Given the description of an element on the screen output the (x, y) to click on. 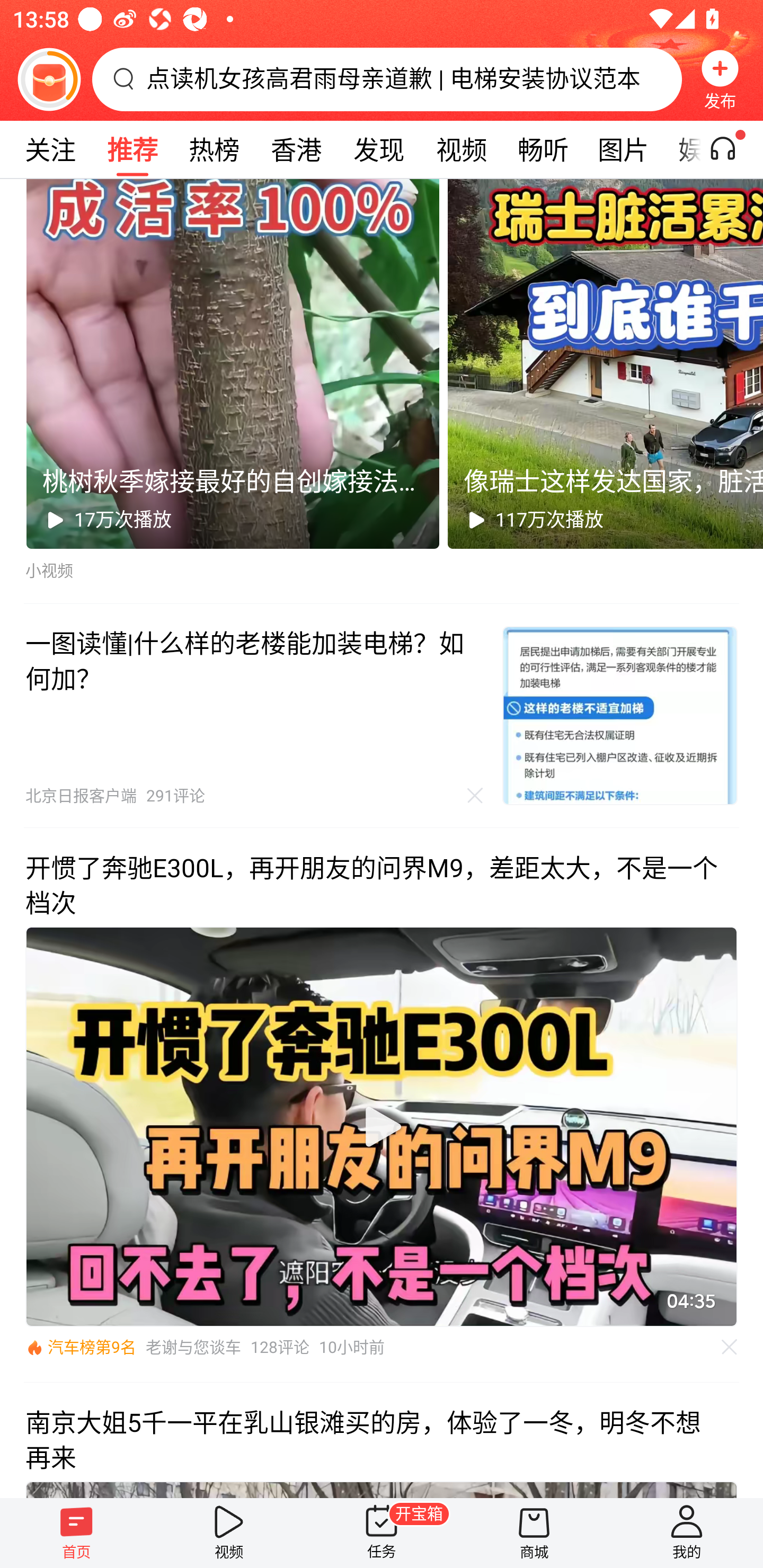
阅读赚金币 (48, 79)
发布 发布，按钮 (720, 78)
关注 (50, 149)
推荐 (132, 149)
热榜 (213, 149)
香港 (295, 149)
发现 (378, 149)
视频 (461, 149)
畅听 (542, 149)
图片 (623, 149)
听一听开关 (732, 149)
不感兴趣 (474, 794)
播放视频 视频播放器，双击屏幕打开播放控制 (381, 1126)
播放视频 (381, 1126)
不感兴趣 (729, 1346)
南京大姐5千一平在乳山银滩买的房，体验了一冬，明冬不想
再来 视频播放器，双击屏幕打开播放控制 (381, 1439)
首页 (76, 1532)
视频 (228, 1532)
任务 开宝箱 (381, 1532)
商城 (533, 1532)
我的 (686, 1532)
